Given the description of an element on the screen output the (x, y) to click on. 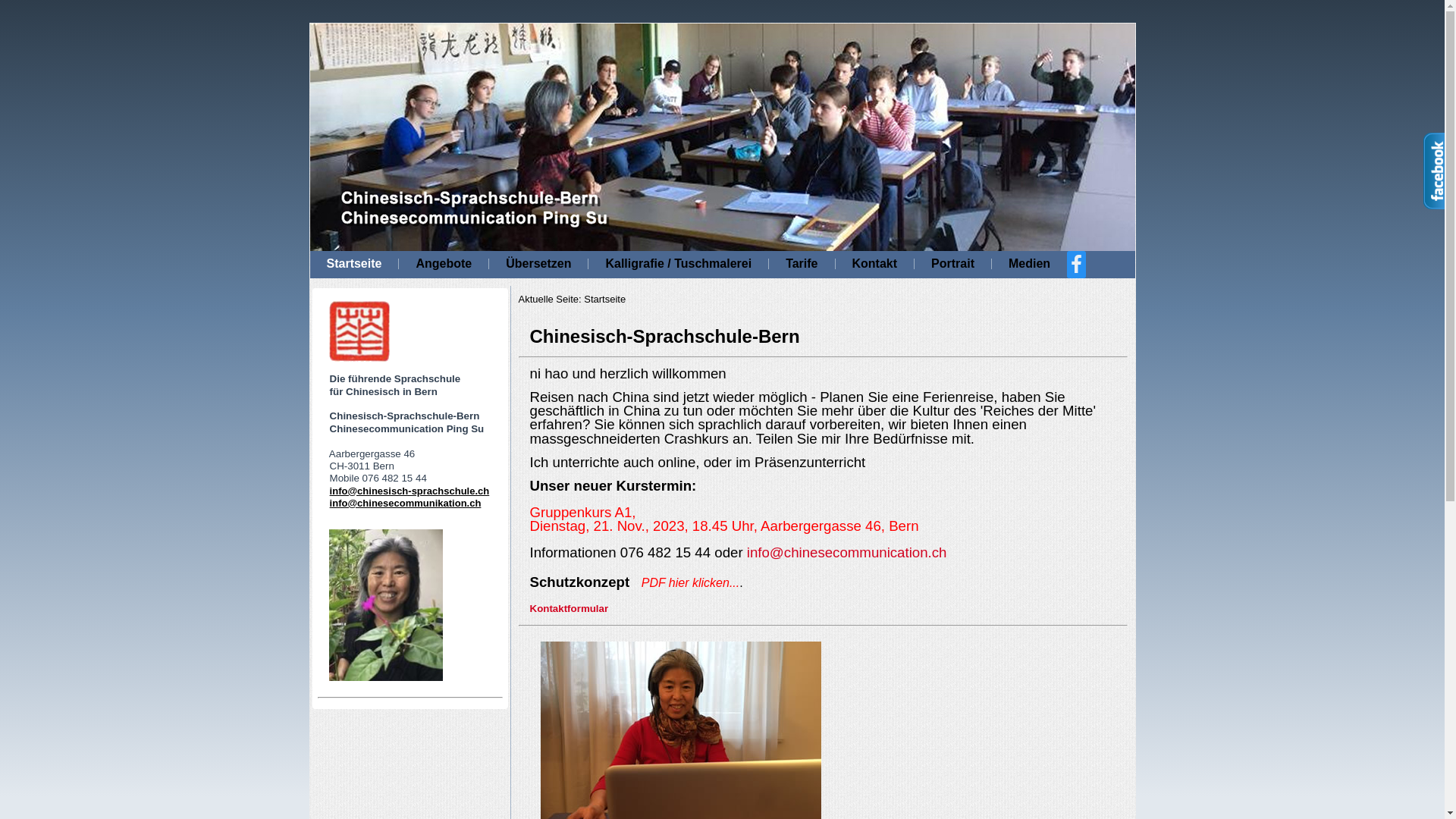
info@chinesisch-sprachschule.ch Element type: text (409, 490)
Angebote Element type: text (443, 263)
Kontaktformular Element type: text (568, 608)
Tarife Element type: text (801, 263)
info@chinesecommunikation.ch Element type: text (405, 502)
Kalligrafie / Tuschmalerei Element type: text (678, 263)
Startseite Element type: text (353, 263)
Portrait Element type: text (952, 263)
Kontakt Element type: text (874, 263)
Medien Element type: text (1028, 263)
info@chinesecommunication.ch Element type: text (846, 552)
PDF hier klicken... Element type: text (690, 582)
